Given the description of an element on the screen output the (x, y) to click on. 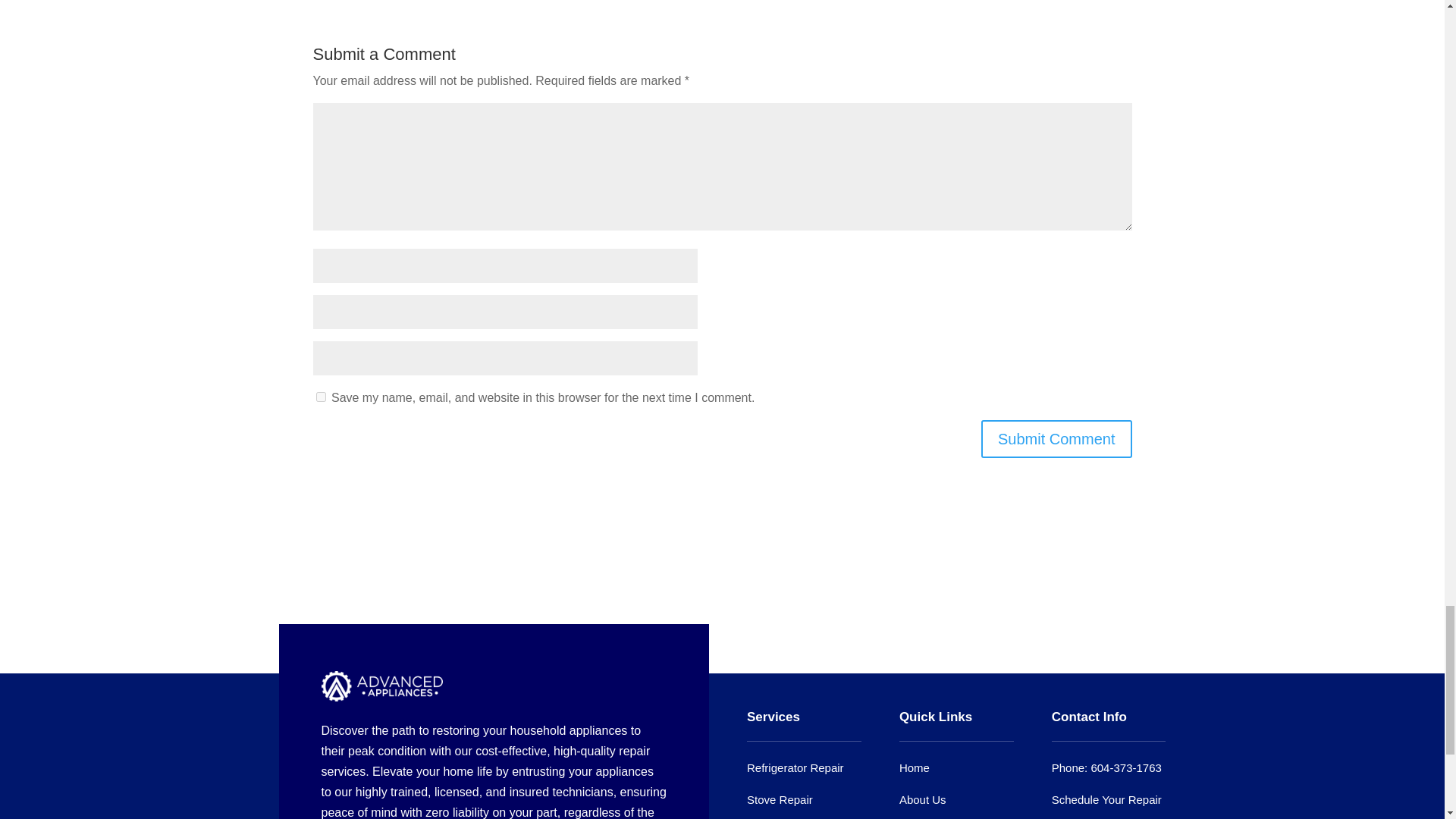
yes (319, 397)
Submit Comment (1056, 438)
Appliance Repair Vancouver  (381, 685)
